Given the description of an element on the screen output the (x, y) to click on. 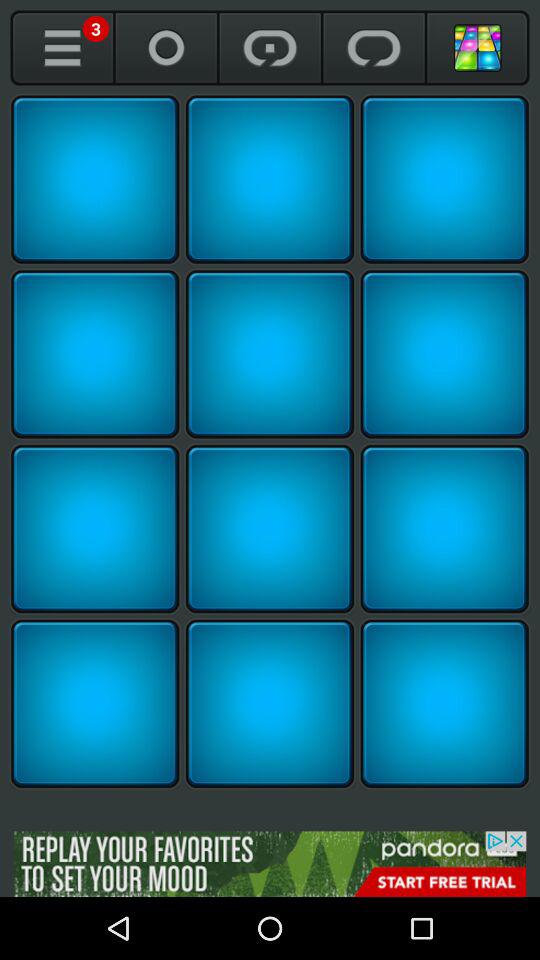
more details (62, 47)
